Given the description of an element on the screen output the (x, y) to click on. 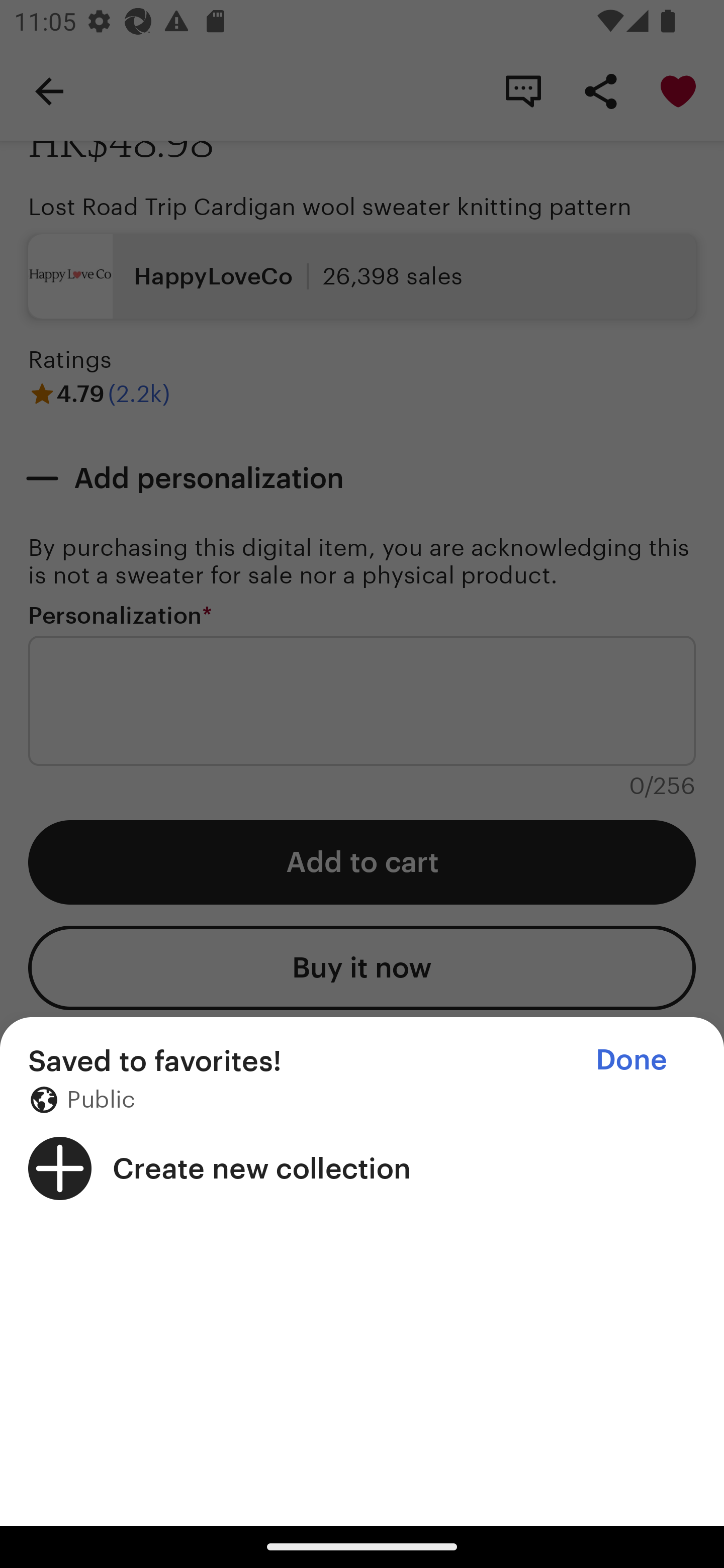
Done (630, 1059)
Create new collection (361, 1167)
